Given the description of an element on the screen output the (x, y) to click on. 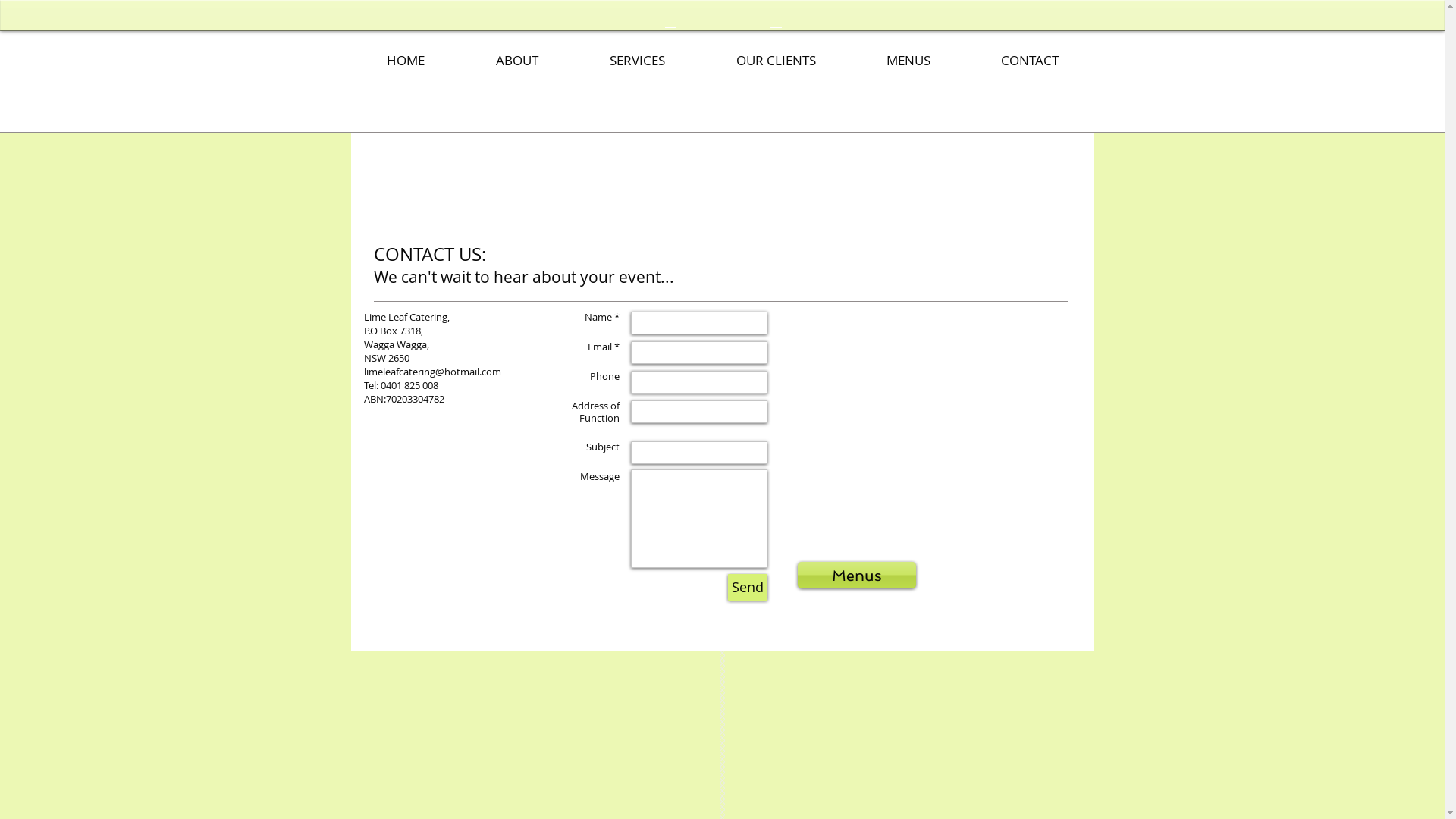
HOME Element type: text (404, 60)
OUR CLIENTS Element type: text (775, 60)
CONTACT Element type: text (1030, 60)
MENUS Element type: text (907, 60)
Menus Element type: text (856, 574)
limeleafcatering@hotmail.com Element type: text (432, 371)
SERVICES Element type: text (636, 60)
Send Element type: text (747, 587)
ABOUT Element type: text (516, 60)
